Given the description of an element on the screen output the (x, y) to click on. 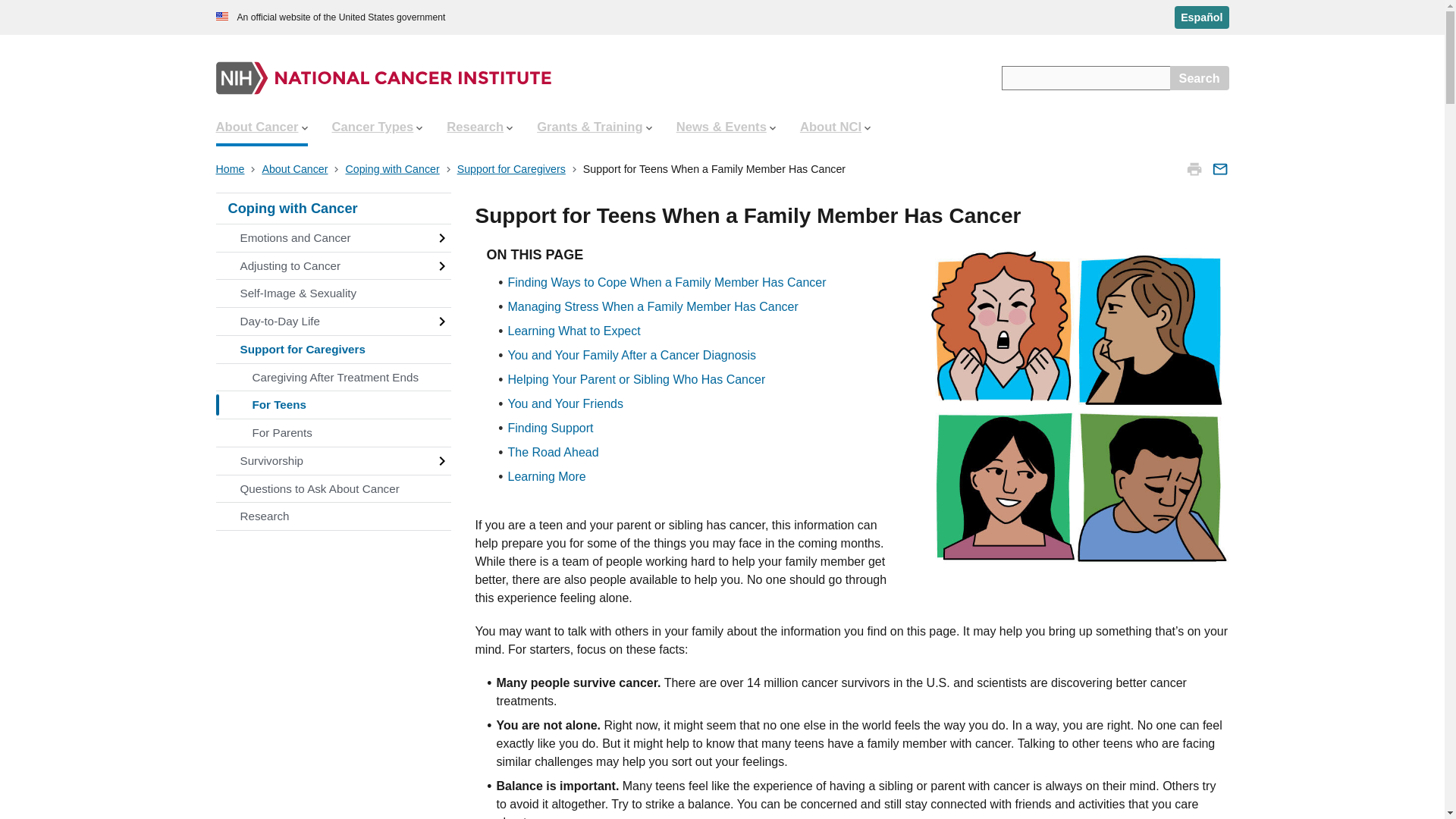
Managing Stress When a Family Member Has Cancer (652, 306)
Support for Caregivers (332, 349)
The Road Ahead (553, 451)
Coping with Cancer (393, 168)
About NCI (834, 127)
Cancer Types (377, 127)
Learning More (547, 476)
Survivorship (332, 461)
Emotions and Cancer (332, 237)
Caregiving After Treatment Ends (332, 377)
